Given the description of an element on the screen output the (x, y) to click on. 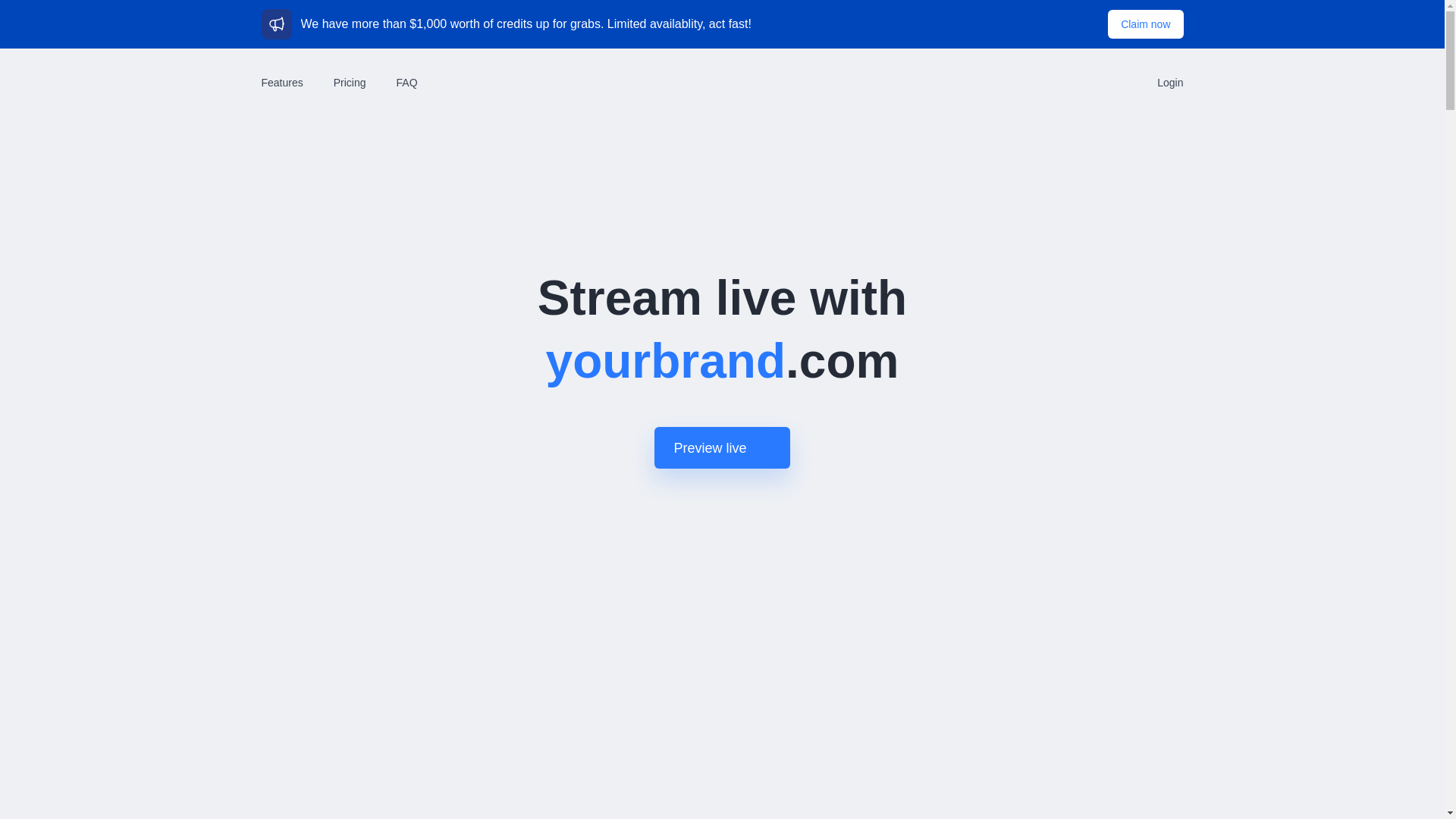
Login (1169, 82)
Claim now (1145, 23)
Preview live (721, 447)
